Given the description of an element on the screen output the (x, y) to click on. 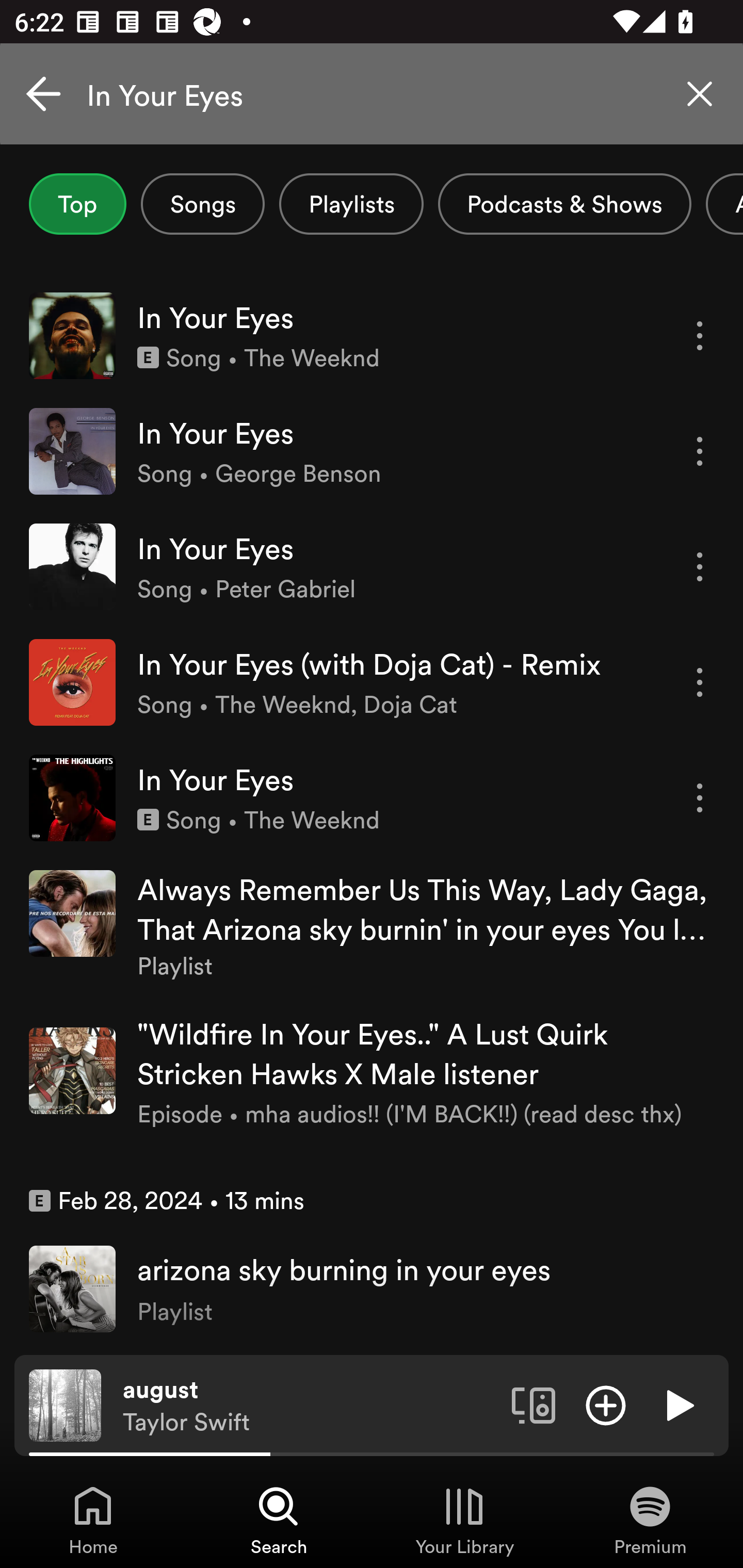
In Your Eyes (371, 93)
Cancel (43, 93)
Clear search query (699, 93)
Top (77, 203)
Songs (202, 203)
Playlists (351, 203)
Podcasts & Shows (564, 203)
More options for song In Your Eyes (699, 336)
More options for song In Your Eyes (699, 450)
More options for song In Your Eyes (699, 566)
More options for song In Your Eyes (699, 798)
arizona sky burning in your eyes Playlist (371, 1288)
august Taylor Swift (309, 1405)
The cover art of the currently playing track (64, 1404)
Connect to a device. Opens the devices menu (533, 1404)
Add item (605, 1404)
Play (677, 1404)
Home, Tab 1 of 4 Home Home (92, 1519)
Search, Tab 2 of 4 Search Search (278, 1519)
Your Library, Tab 3 of 4 Your Library Your Library (464, 1519)
Premium, Tab 4 of 4 Premium Premium (650, 1519)
